Given the description of an element on the screen output the (x, y) to click on. 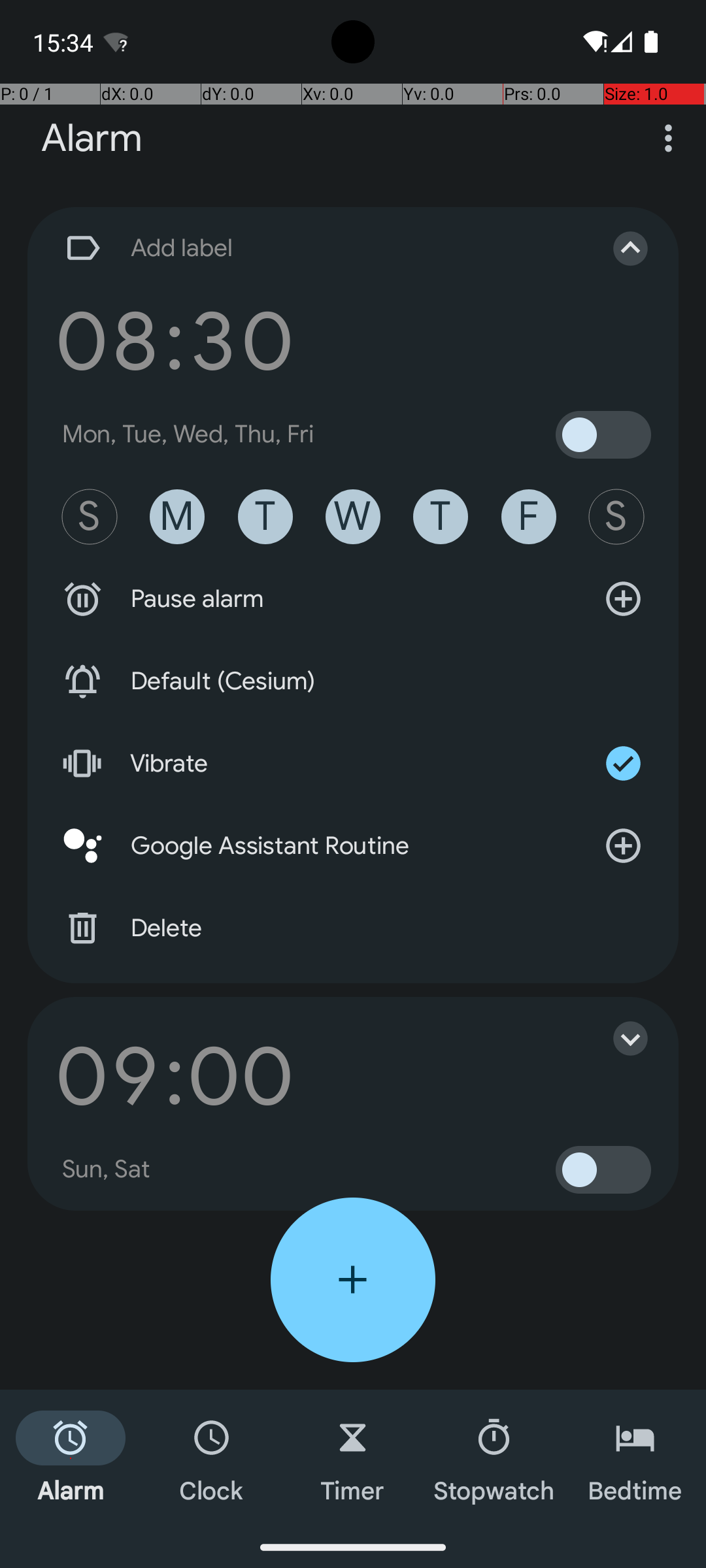
Add label Element type: android.widget.TextView (318, 248)
Collapse alarm Element type: android.widget.ImageButton (616, 248)
Pause alarm Element type: android.widget.TextView (352, 598)
Google Assistant Routine Element type: android.widget.TextView (352, 845)
